Given the description of an element on the screen output the (x, y) to click on. 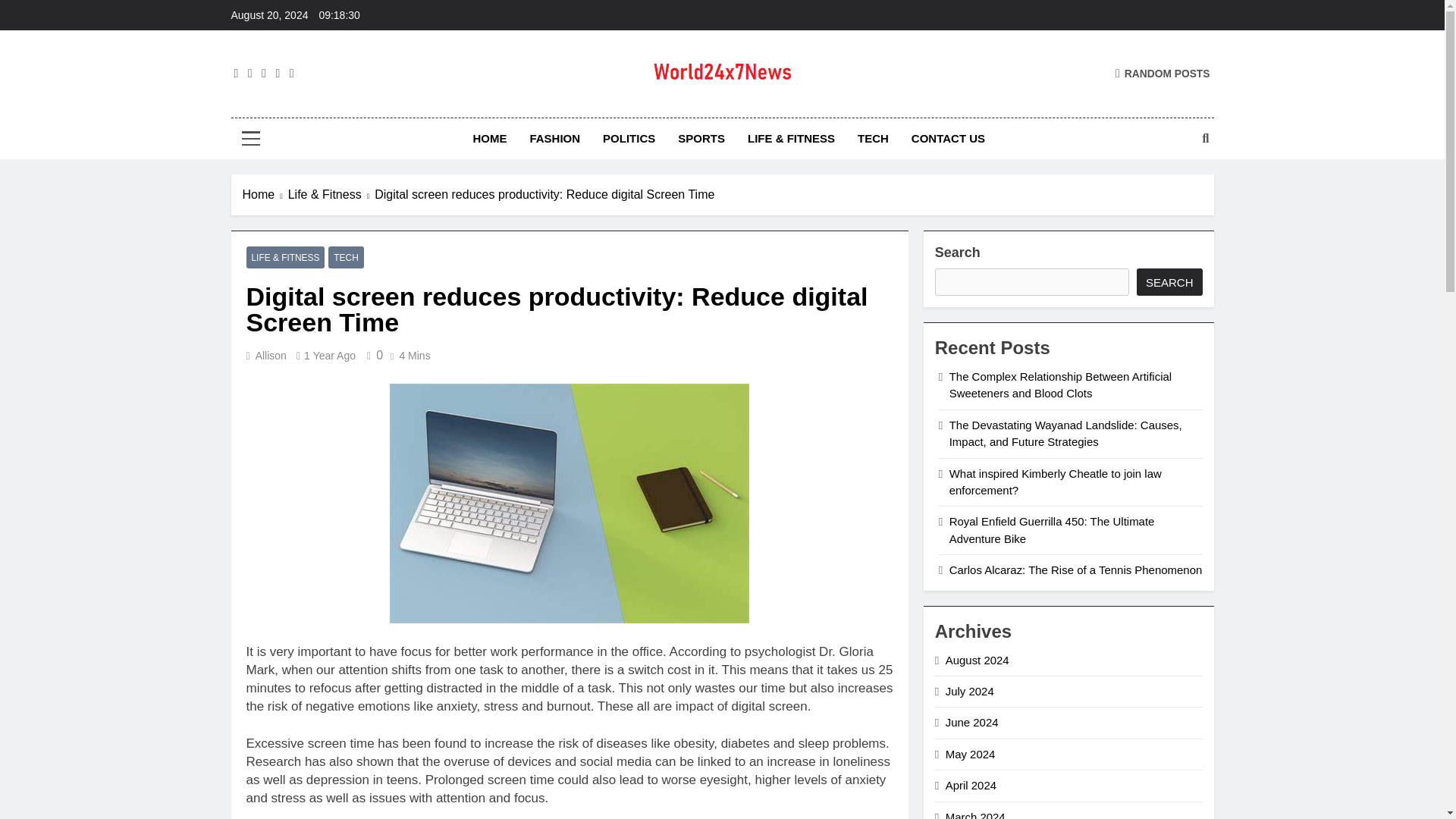
RANDOM POSTS (1162, 72)
POLITICS (628, 137)
FASHION (554, 137)
HOME (489, 137)
SPORTS (701, 137)
